Given the description of an element on the screen output the (x, y) to click on. 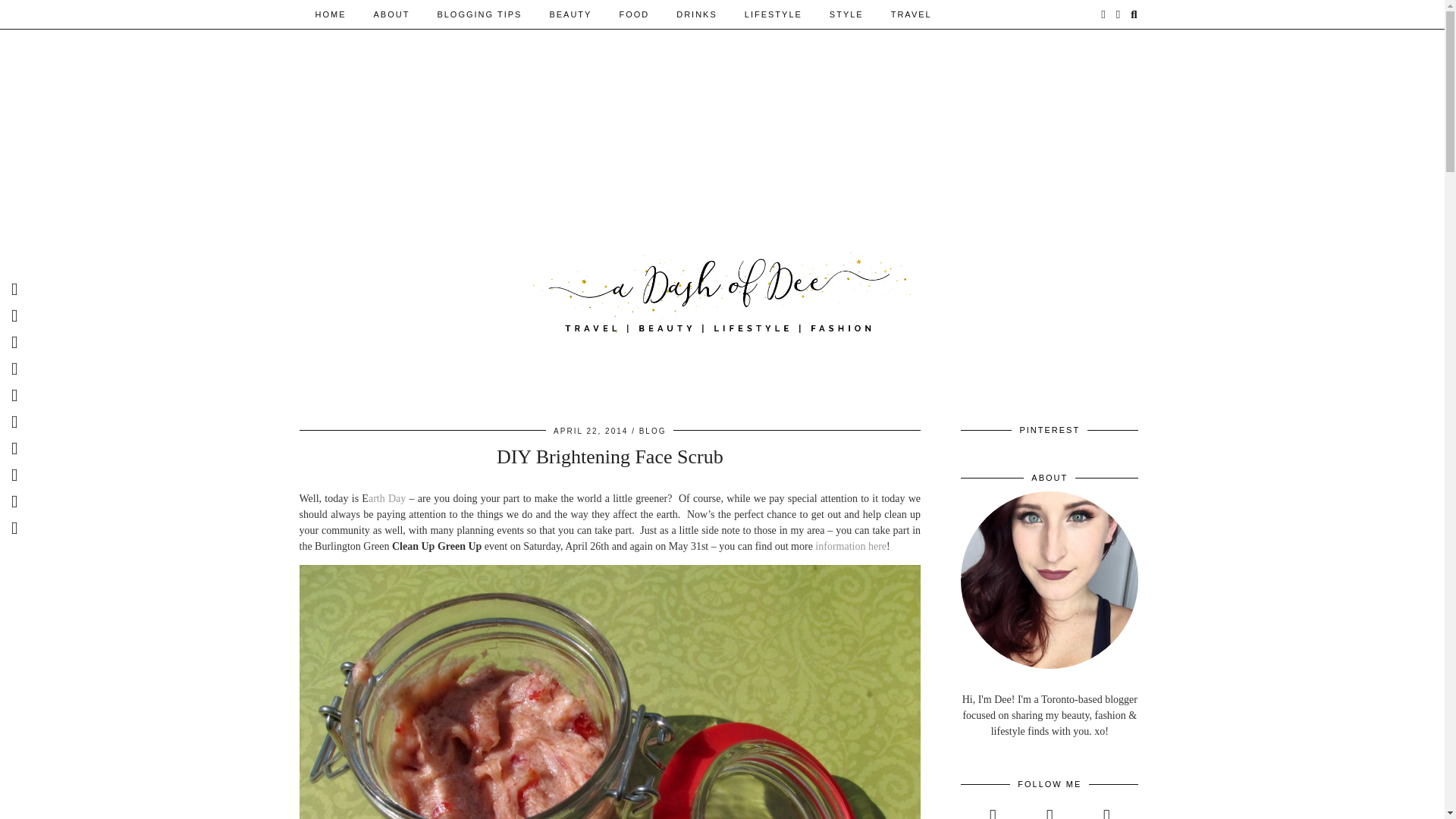
A Dash of Dee (721, 290)
